Given the description of an element on the screen output the (x, y) to click on. 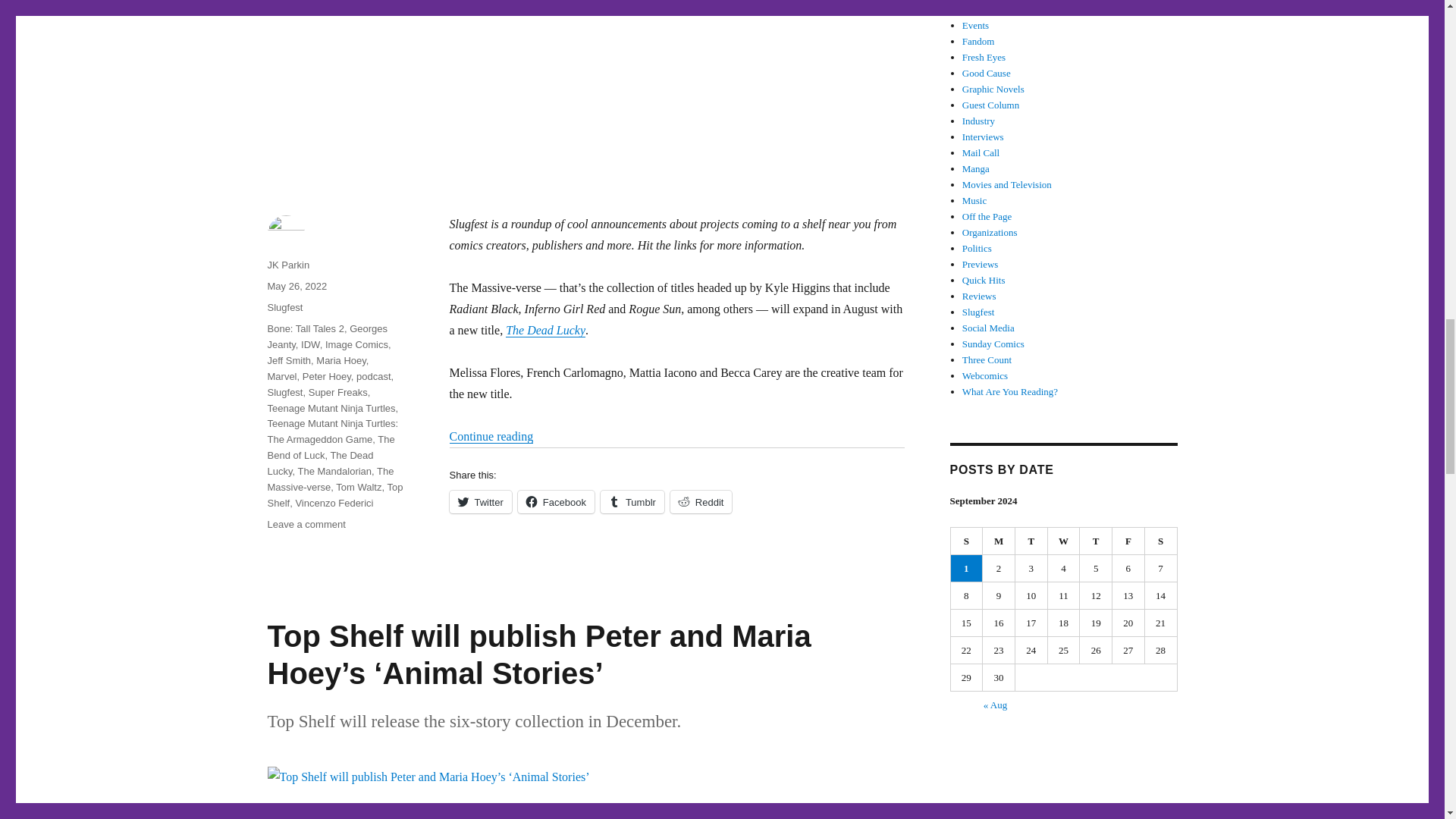
Click to share on Reddit (700, 501)
Bone: Tall Tales 2 (304, 328)
Reddit (700, 501)
Click to share on Tumblr (631, 501)
Tumblr (631, 501)
Slugfest (284, 307)
The Dead Lucky (545, 329)
Twitter (479, 501)
JK Parkin (287, 265)
May 26, 2022 (296, 285)
